Given the description of an element on the screen output the (x, y) to click on. 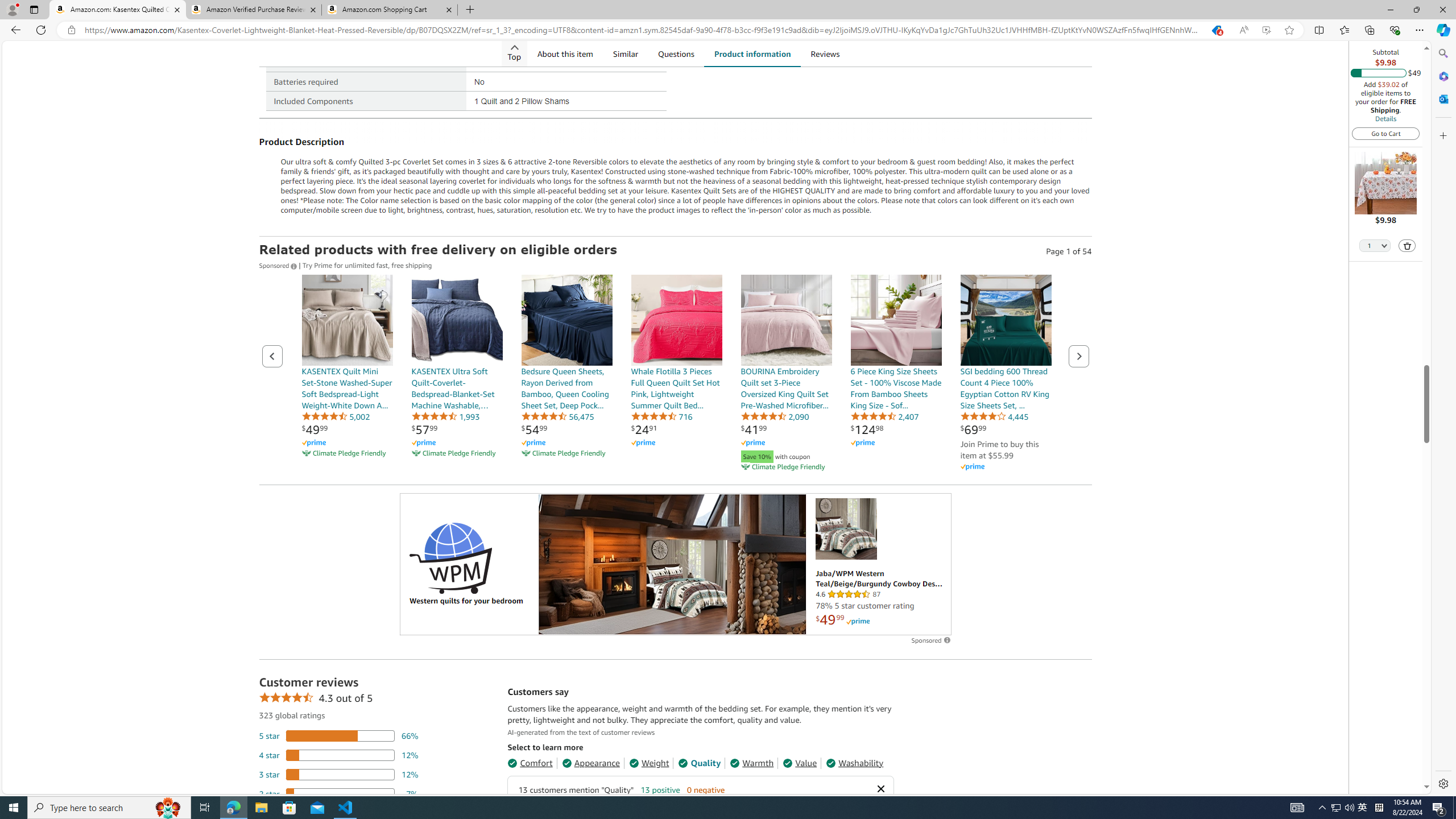
Questions (675, 53)
Amazon.com Shopping Cart (390, 9)
Product information (751, 53)
4,445 (994, 416)
$41.99 (754, 429)
About this item (564, 53)
12 percent of reviews have 3 stars (339, 774)
Appearance (591, 762)
Amazon Prime (971, 466)
Reviews (825, 53)
